Given the description of an element on the screen output the (x, y) to click on. 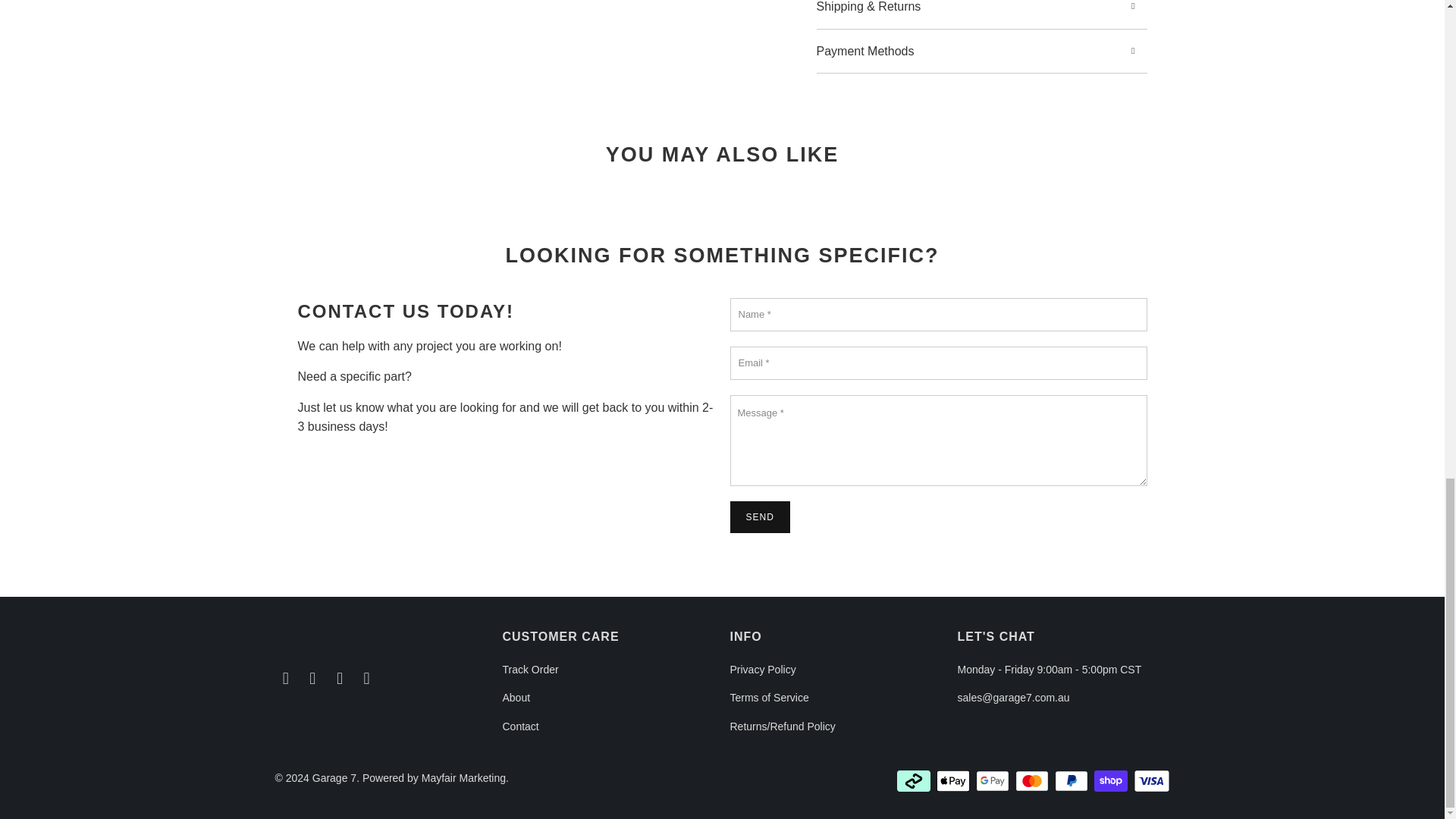
PayPal (1072, 780)
Google Pay (993, 780)
Garage 7 on Facebook (312, 678)
Afterpay (914, 780)
Garage 7 on Instagram (340, 678)
Garage 7 on LinkedIn (366, 678)
Email Garage 7 (286, 678)
Send (759, 517)
Visa (1150, 780)
Apple Pay (954, 780)
